Given the description of an element on the screen output the (x, y) to click on. 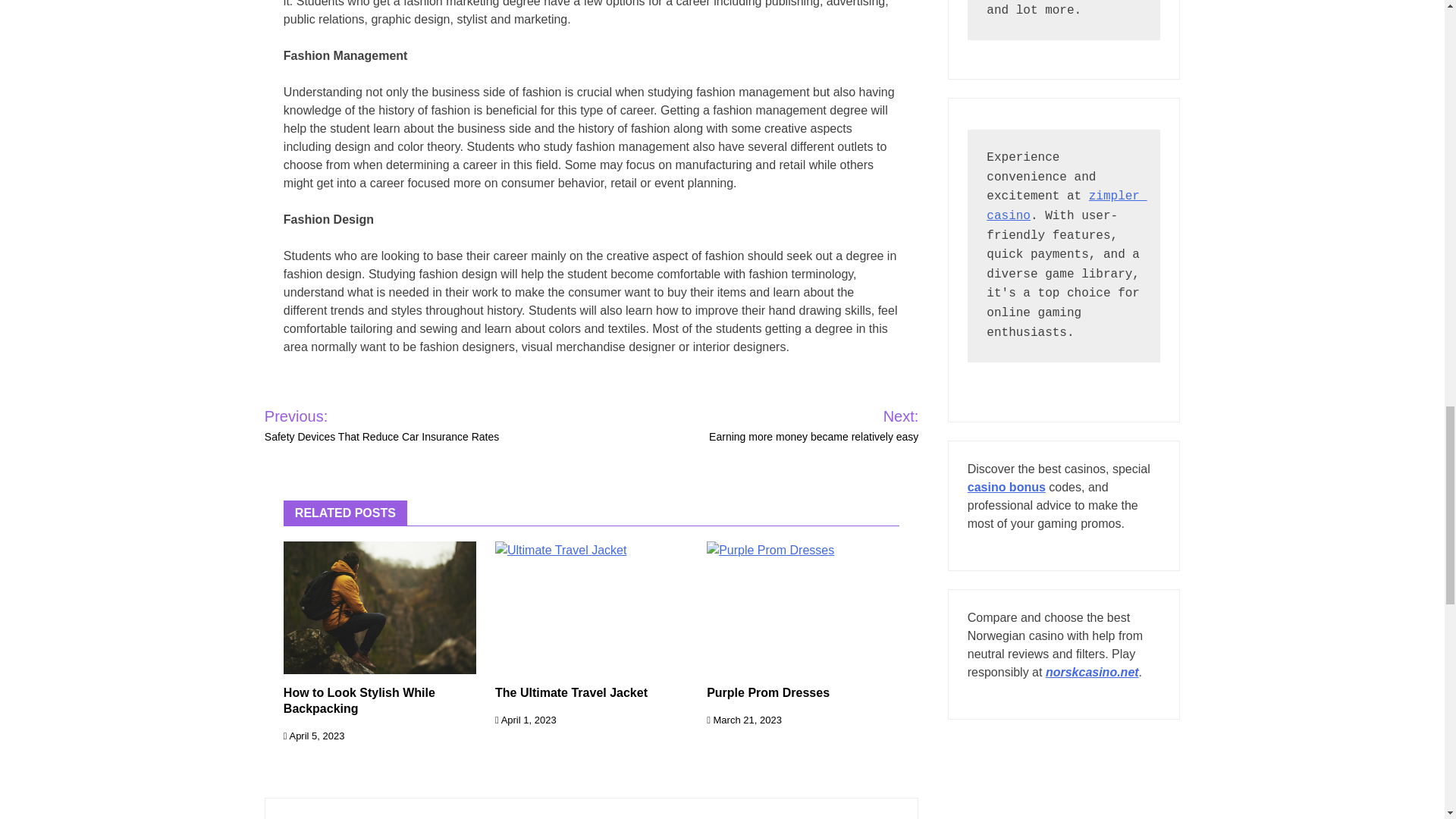
April 5, 2023 (314, 736)
How to Look Stylish While Backpacking (359, 700)
March 21, 2023 (743, 719)
Purple Prom Dresses (767, 692)
Next: Earning more money became relatively easy (793, 424)
April 1, 2023 (525, 719)
The Ultimate Travel Jacket (571, 692)
Previous: Safety Devices That Reduce Car Insurance Rates (415, 424)
